Given the description of an element on the screen output the (x, y) to click on. 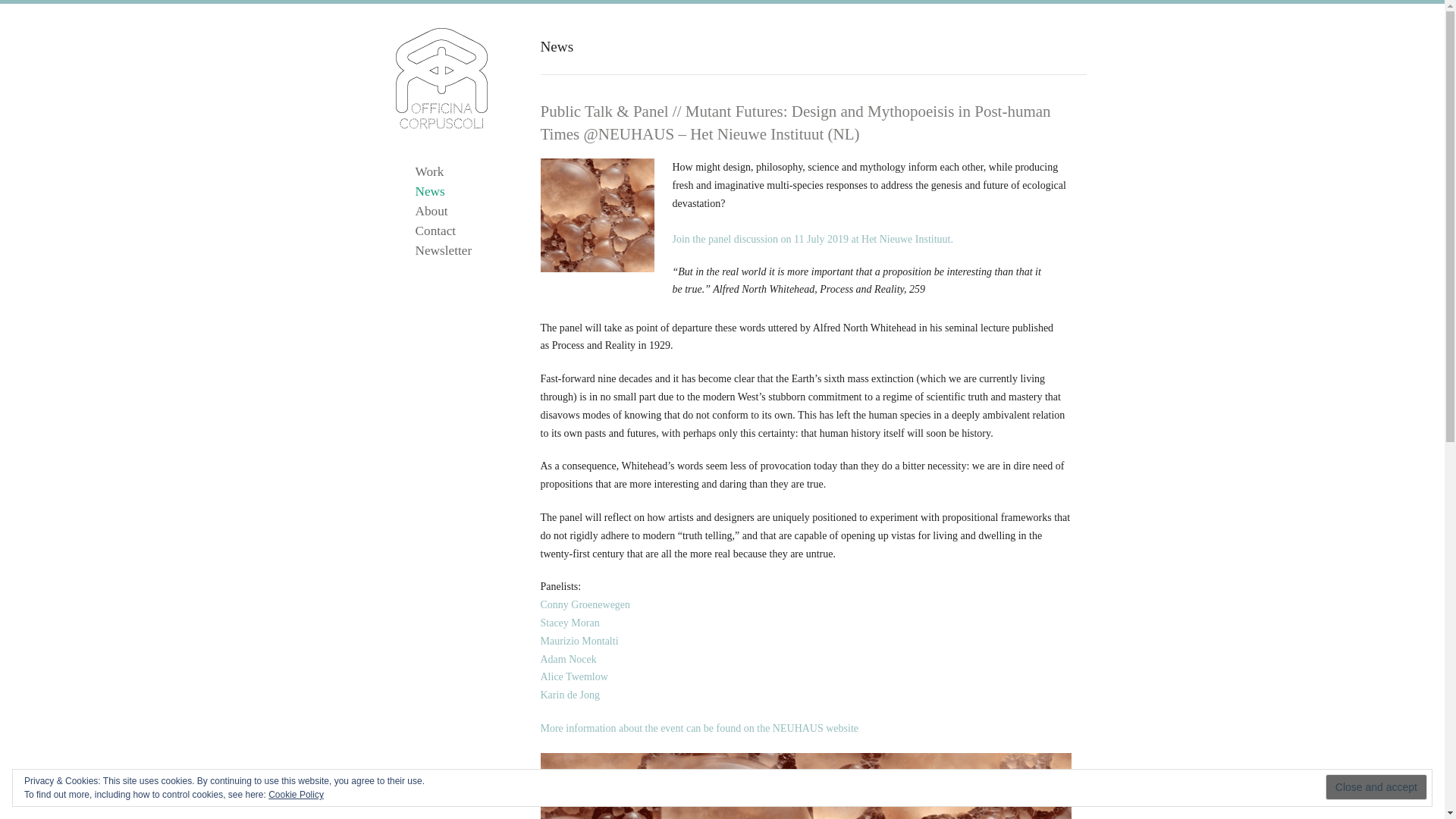
Conny Groenewegen (585, 604)
Karin de Jong (569, 695)
News (429, 191)
About (431, 210)
Close and accept (1375, 786)
Adam Nocek (567, 659)
Work (429, 171)
Stacey Moran (569, 622)
Close and accept (1375, 786)
Contact (435, 230)
Alice Twemlow (573, 676)
Maurizio Montalti (578, 641)
Newsletter (442, 250)
